Given the description of an element on the screen output the (x, y) to click on. 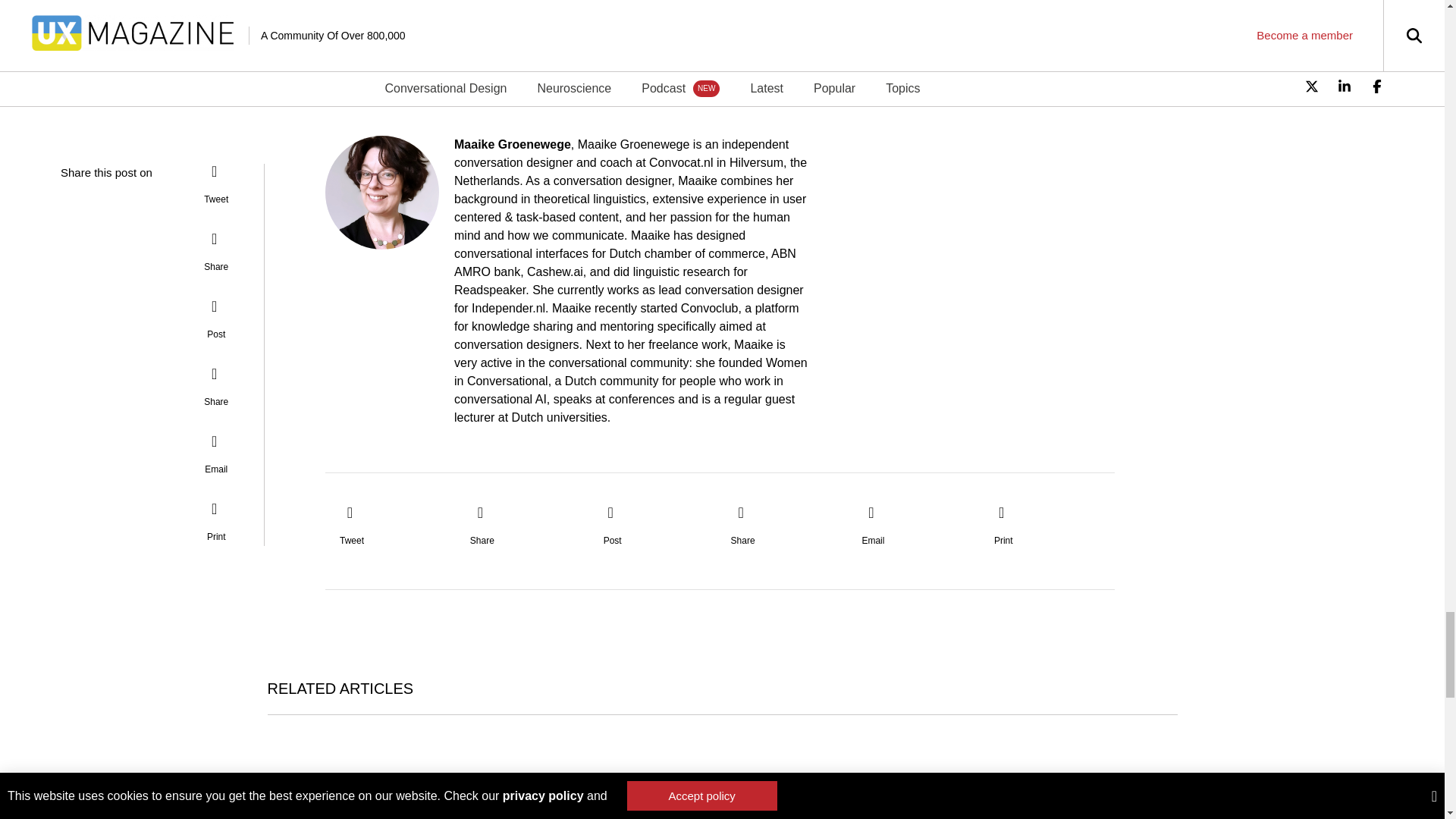
Conversational Design (390, 57)
Customer Experience (525, 57)
